Given the description of an element on the screen output the (x, y) to click on. 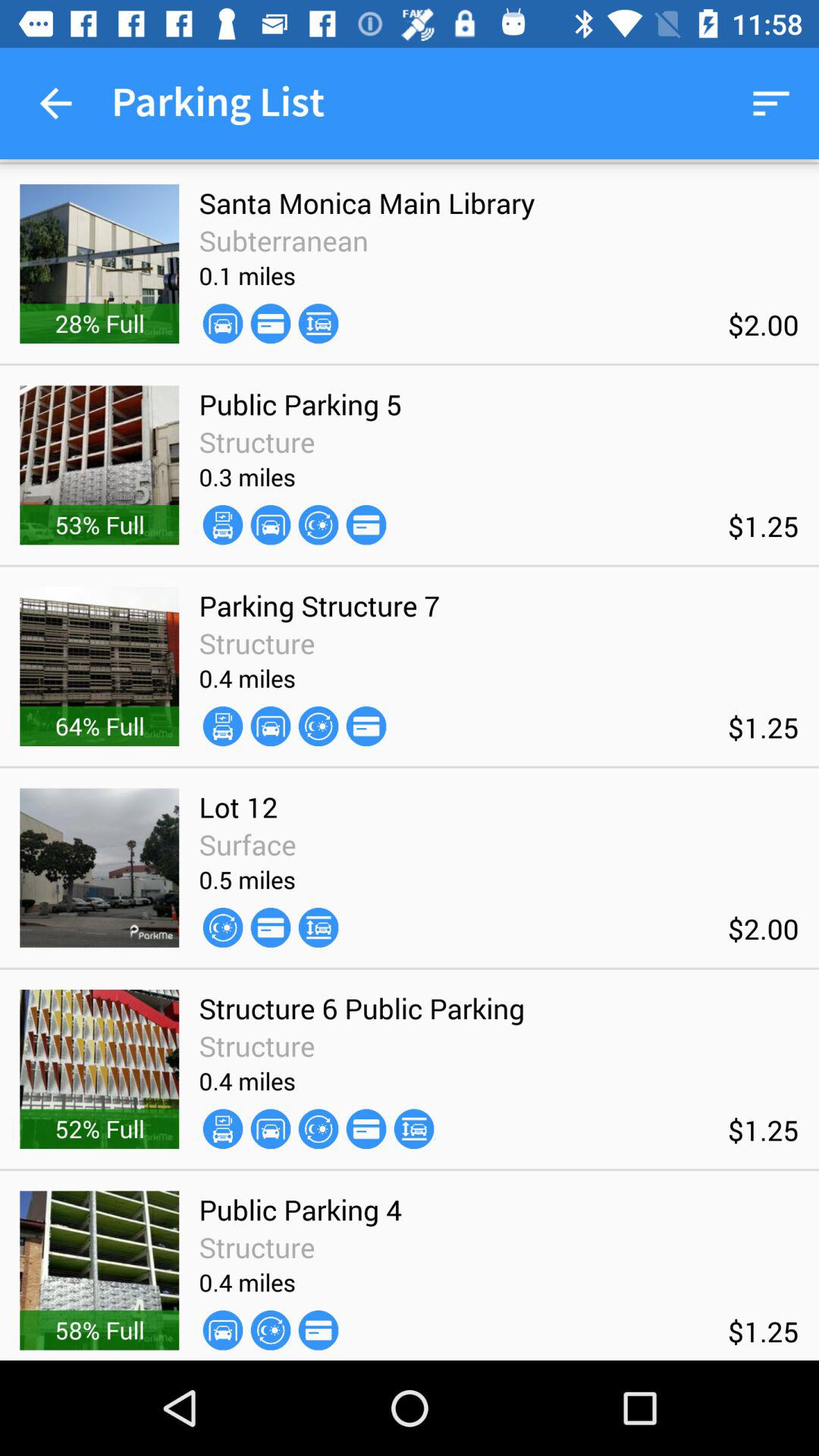
press the item below the structure 6 public (413, 1128)
